Given the description of an element on the screen output the (x, y) to click on. 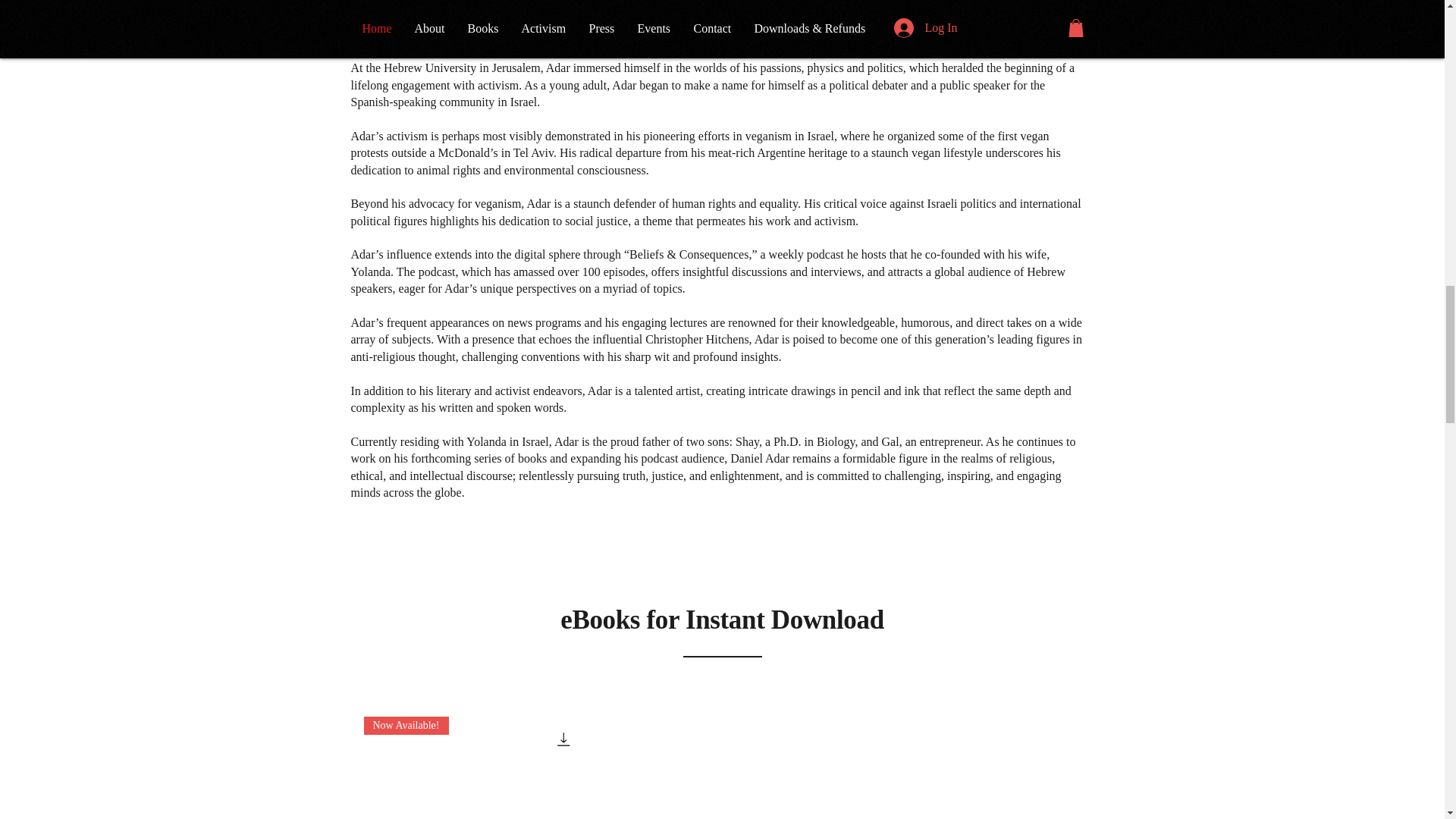
Now Available! (475, 767)
